Given the description of an element on the screen output the (x, y) to click on. 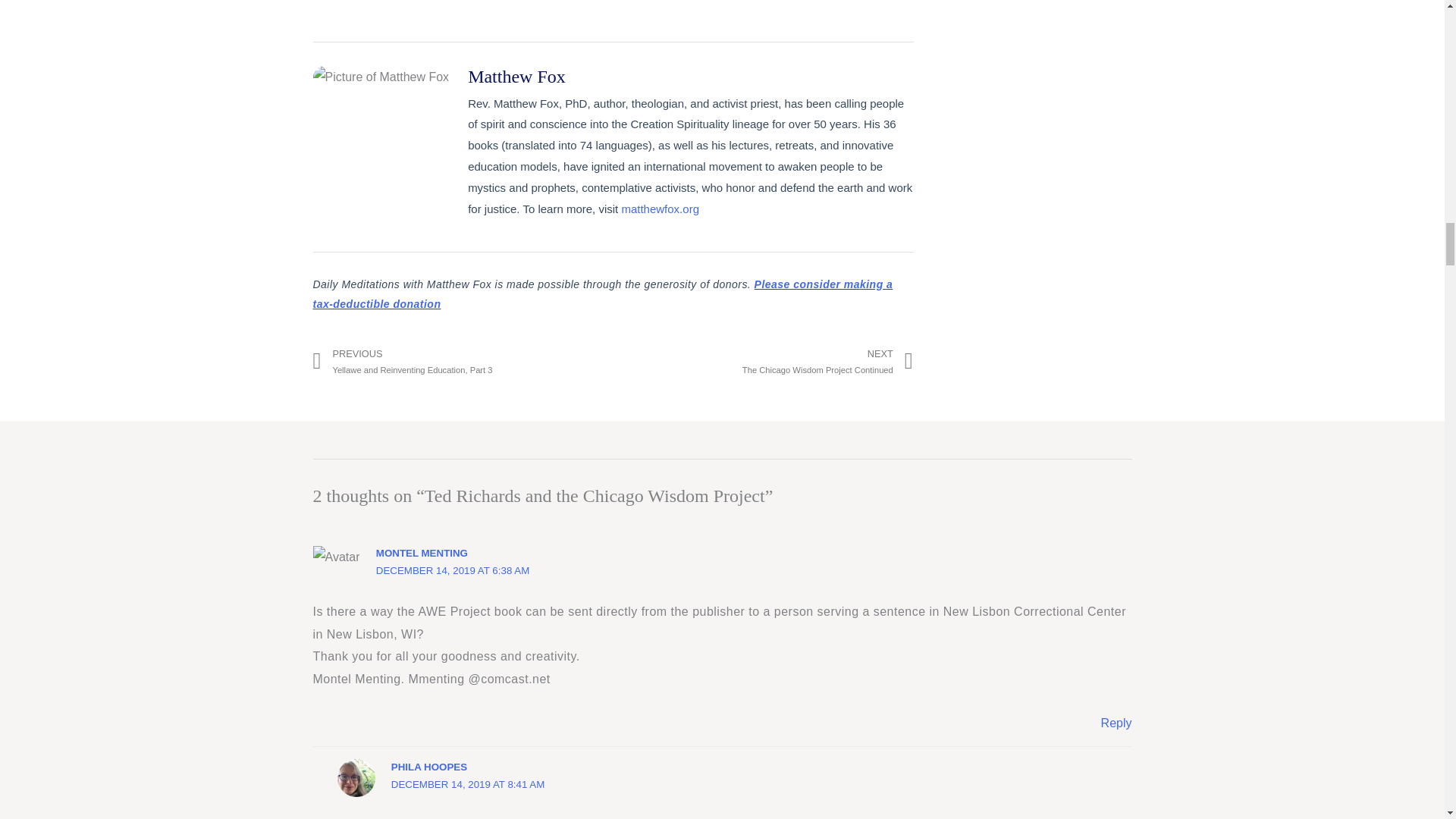
Reply (1116, 722)
PHILA HOOPES (429, 767)
Please consider making a tax-deductible donation (602, 294)
matthewfox.org (659, 208)
DECEMBER 14, 2019 AT 6:38 AM (762, 361)
MONTEL MENTING (452, 570)
